Given the description of an element on the screen output the (x, y) to click on. 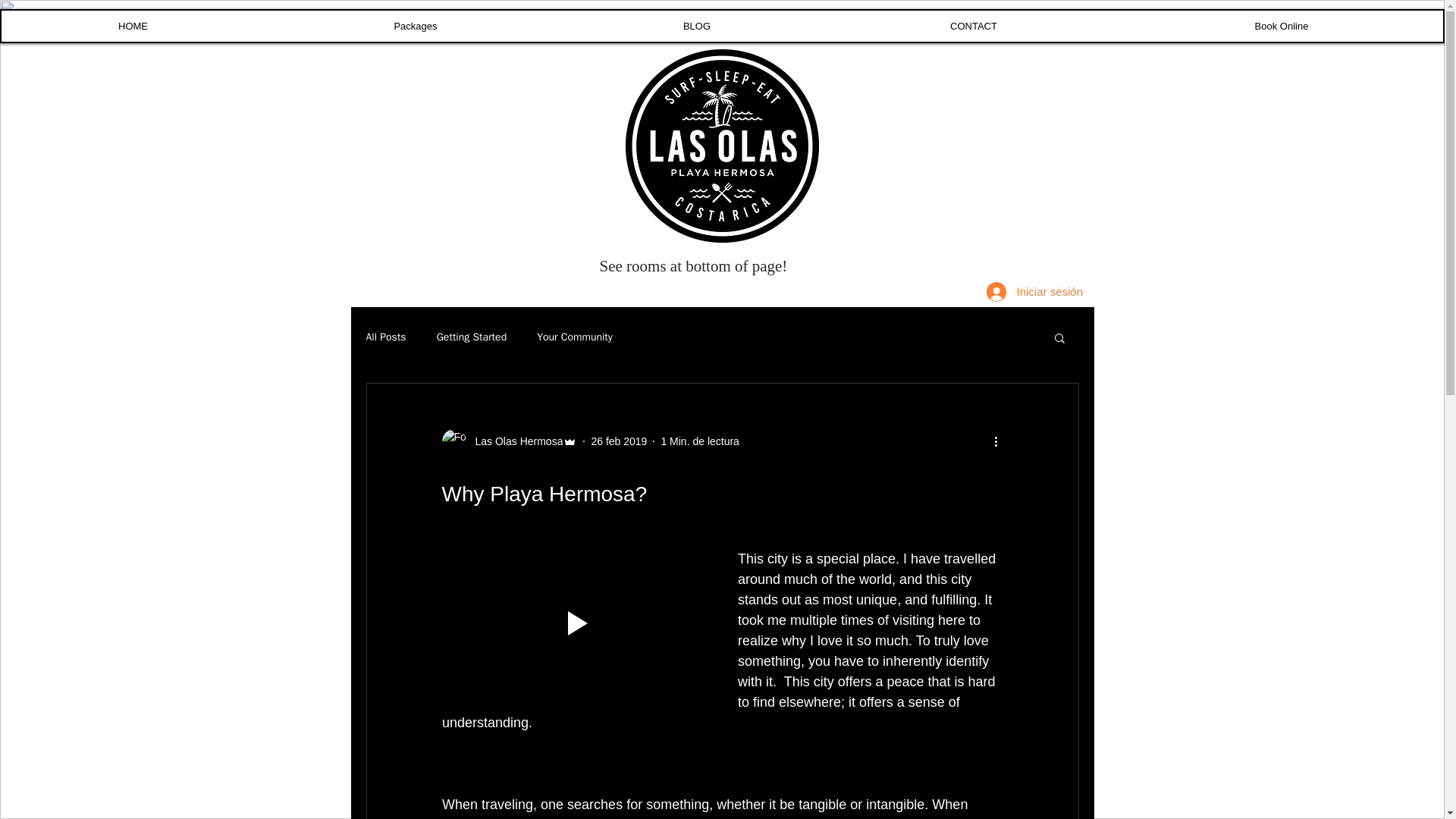
Las Olas Hermosa  (513, 441)
Your Community (574, 336)
CONTACT (973, 25)
BLOG (696, 25)
All Posts (385, 336)
1 Min. de lectura (700, 440)
Getting Started (471, 336)
HOME (132, 25)
Book Online (1280, 25)
26 feb 2019 (618, 440)
